Given the description of an element on the screen output the (x, y) to click on. 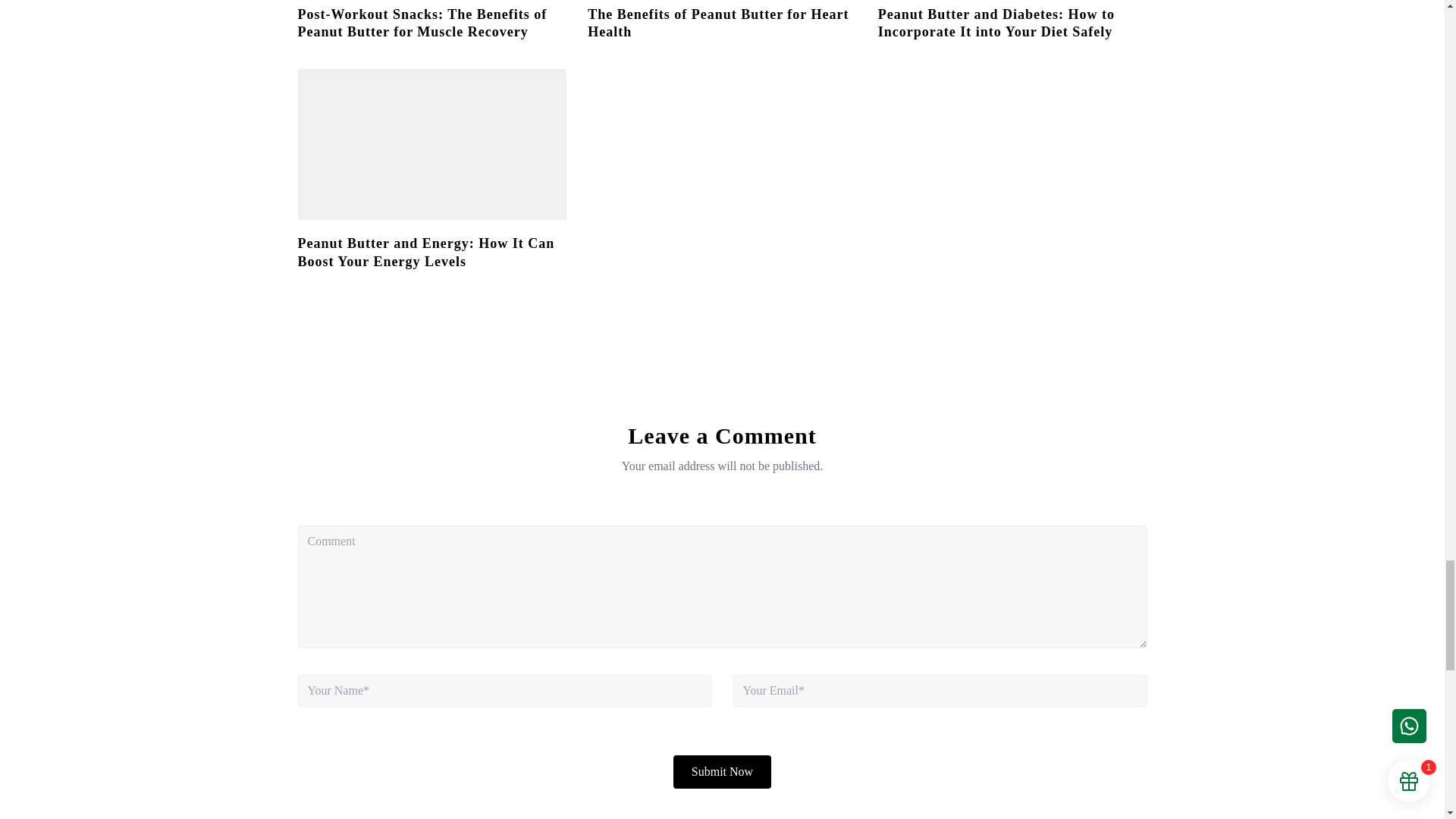
Submit Now (721, 771)
